Given the description of an element on the screen output the (x, y) to click on. 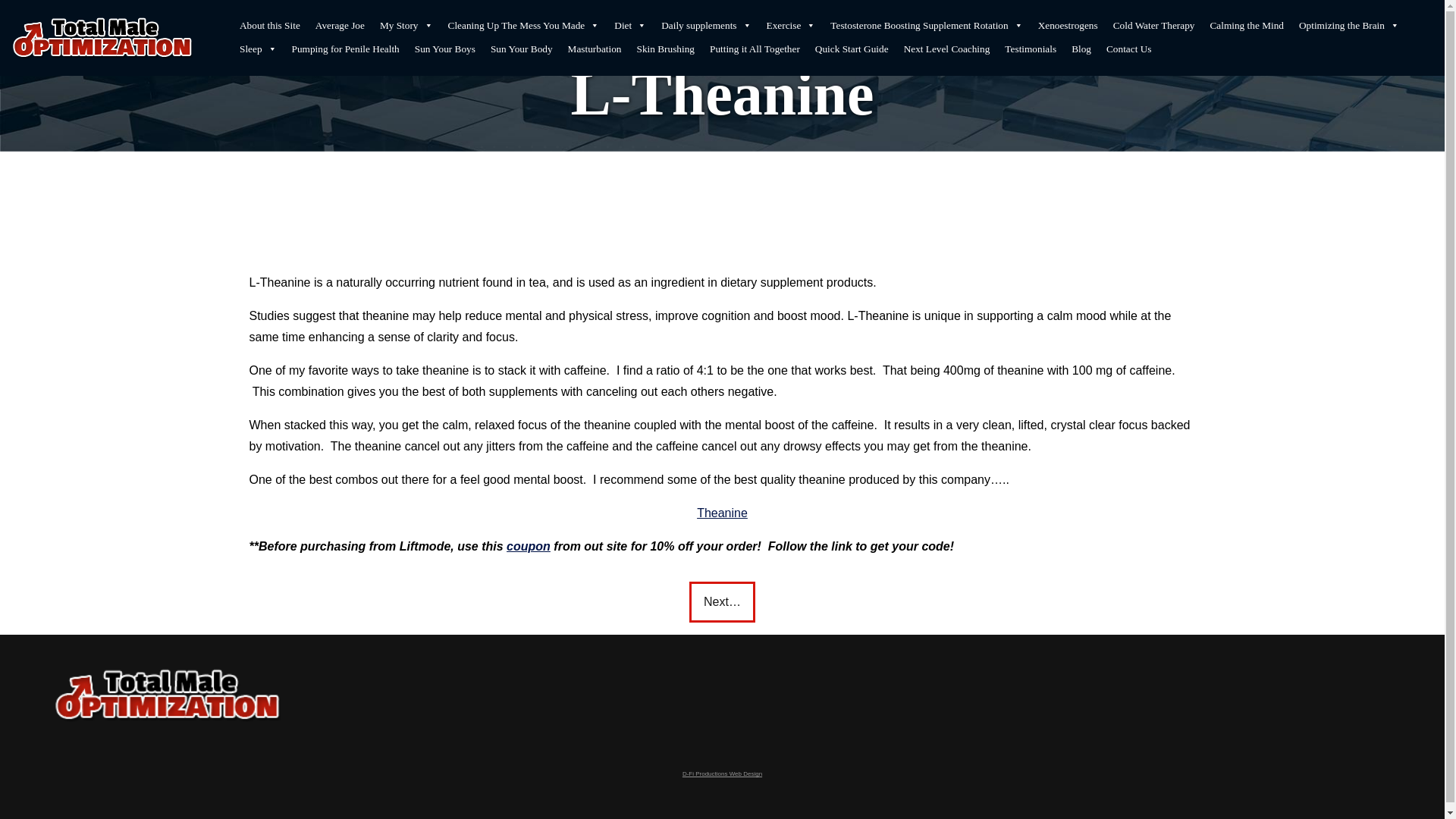
Daily supplements (705, 25)
Cleaning Up The Mess You Made (524, 25)
About this Site (269, 25)
My Story (406, 25)
Average Joe (339, 25)
Exercise (791, 25)
Diet (630, 25)
Testosterone Boosting Supplement Rotation (925, 25)
